Given the description of an element on the screen output the (x, y) to click on. 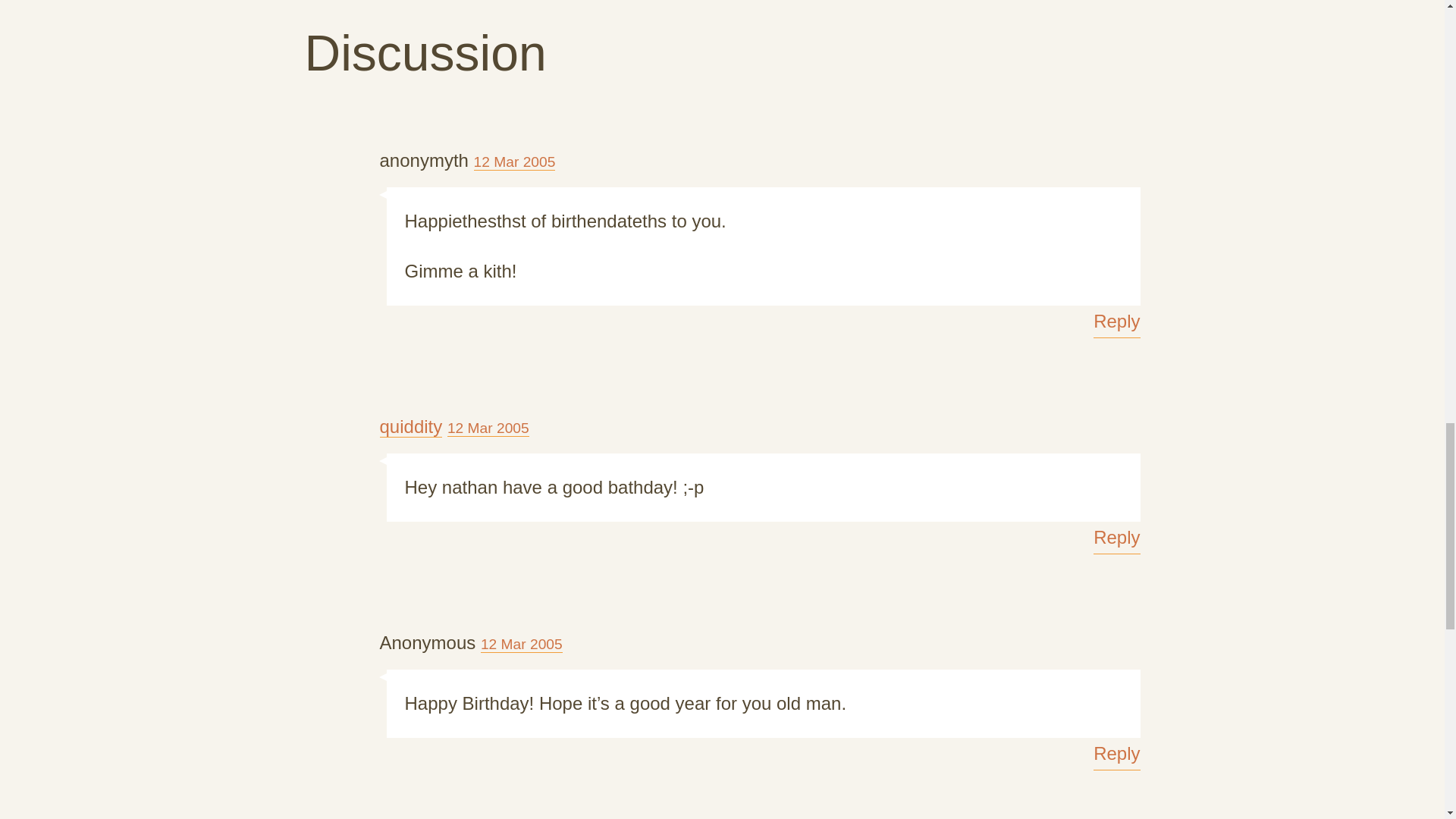
12 Mar 2005 (521, 644)
Reply (1116, 753)
quiddity (410, 426)
Reply (1116, 321)
Reply (1116, 537)
12 Mar 2005 (515, 161)
12 Mar 2005 (487, 428)
